Given the description of an element on the screen output the (x, y) to click on. 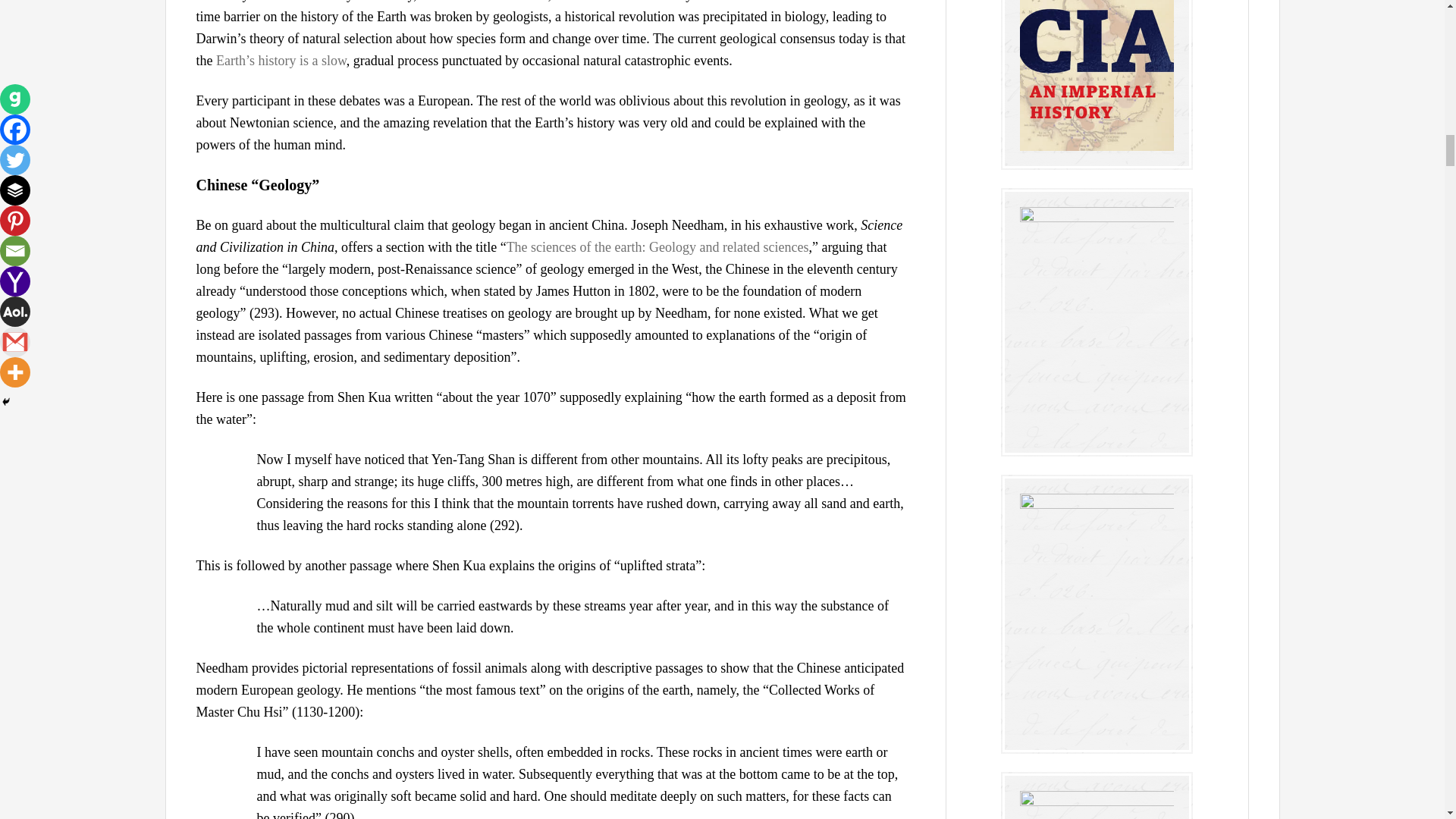
The sciences of the earth: Geology and related sciences (657, 246)
